Given the description of an element on the screen output the (x, y) to click on. 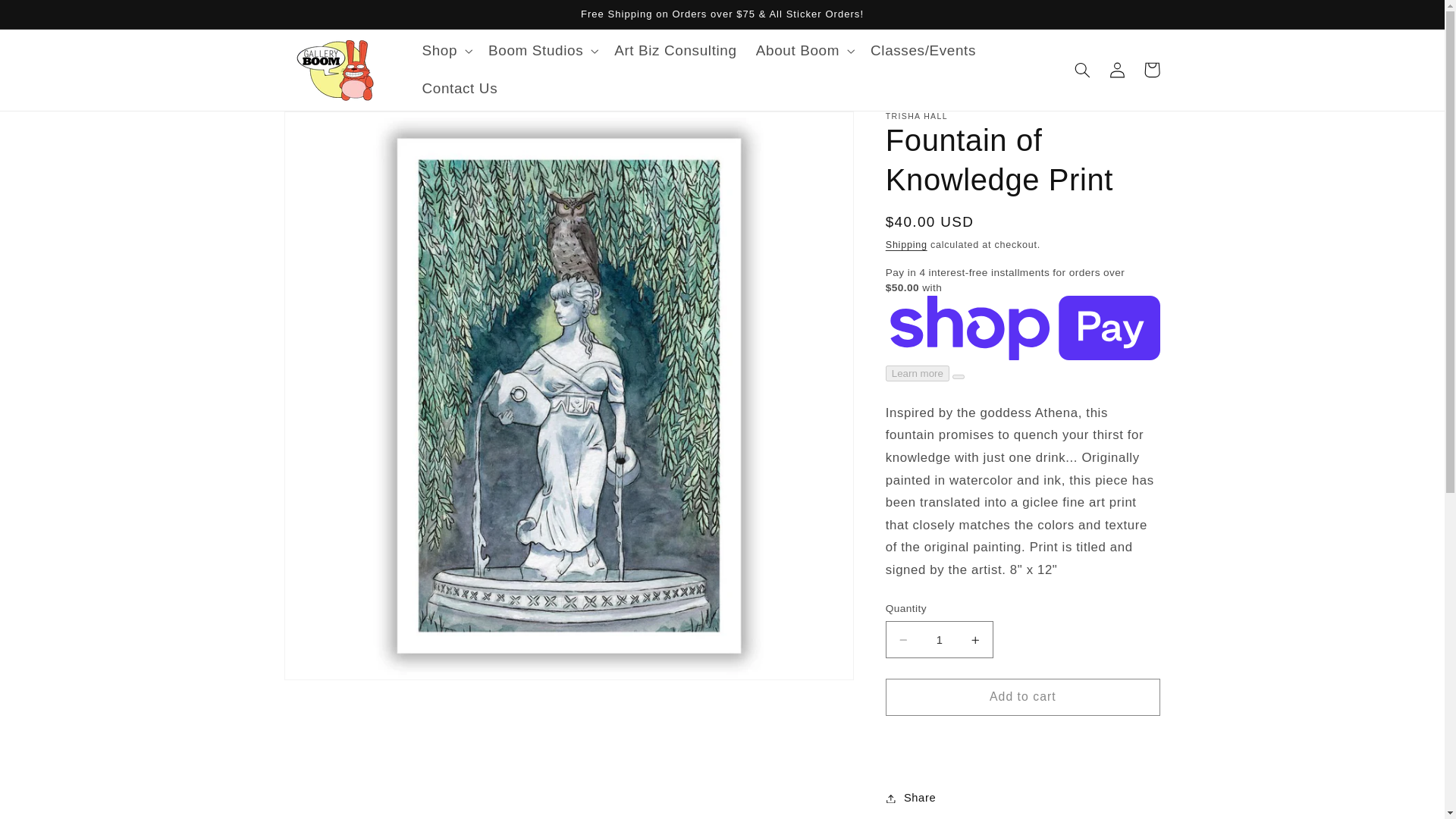
1 (939, 639)
Cart (1151, 69)
Contact Us (459, 88)
Art Biz Consulting (675, 50)
Log in (1116, 69)
Skip to content (48, 18)
